Given the description of an element on the screen output the (x, y) to click on. 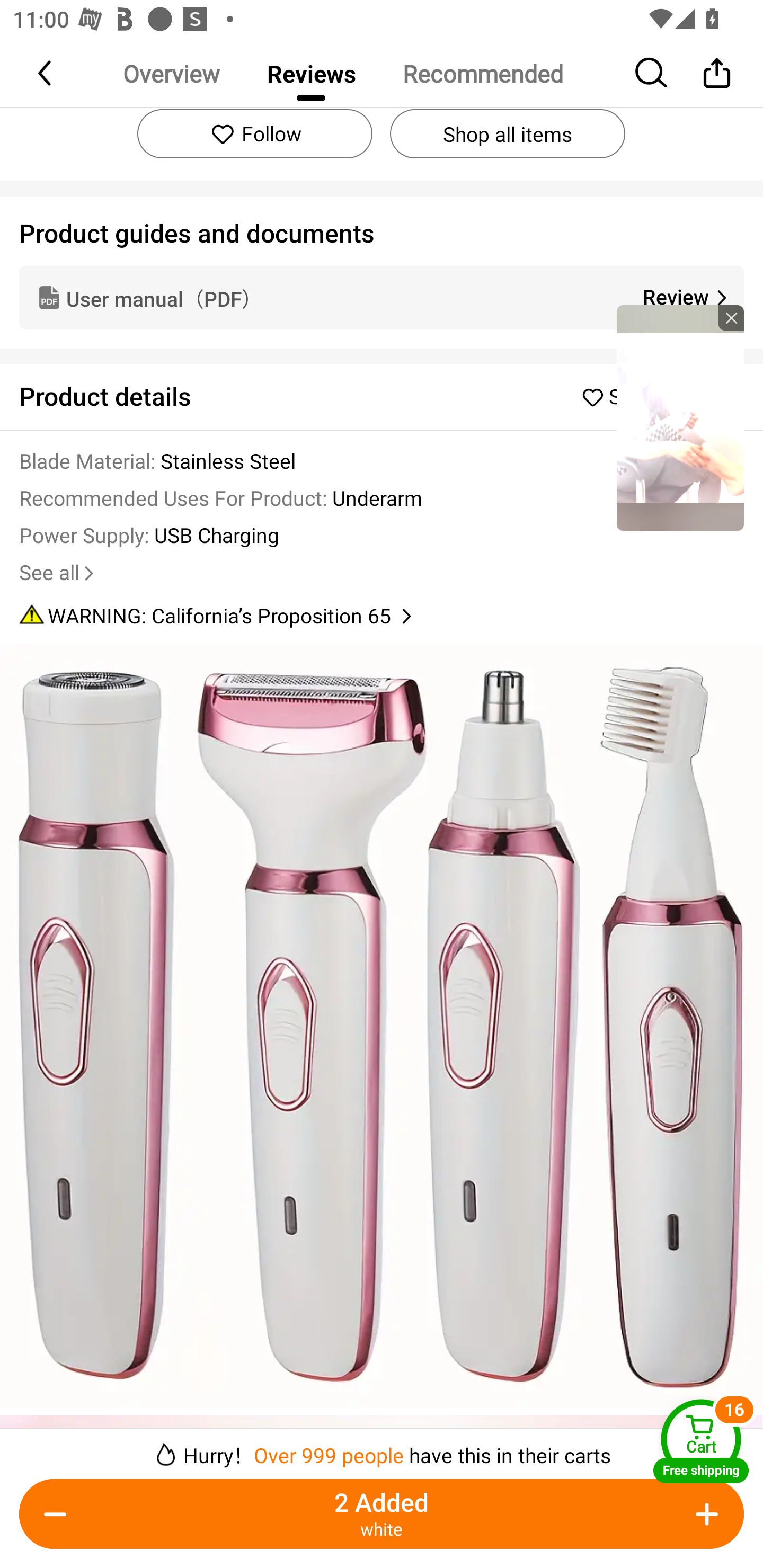
Overview (171, 72)
Reviews (311, 72)
Recommended (482, 72)
Back (46, 72)
Share (716, 72)
  Follow (254, 133)
Shop all items (506, 133)
User manual（PDF） Review (381, 297)
tronplayer_view (680, 417)
See all  (58, 572)
￼WARNING: California’s Proposition 65   (381, 615)
Cart Free shipping Cart (701, 1440)
￼￼Hurry！Over 999 people have this in their carts (381, 1448)
Decrease Quantity Button (59, 1513)
Add Quantity button (703, 1513)
